Given the description of an element on the screen output the (x, y) to click on. 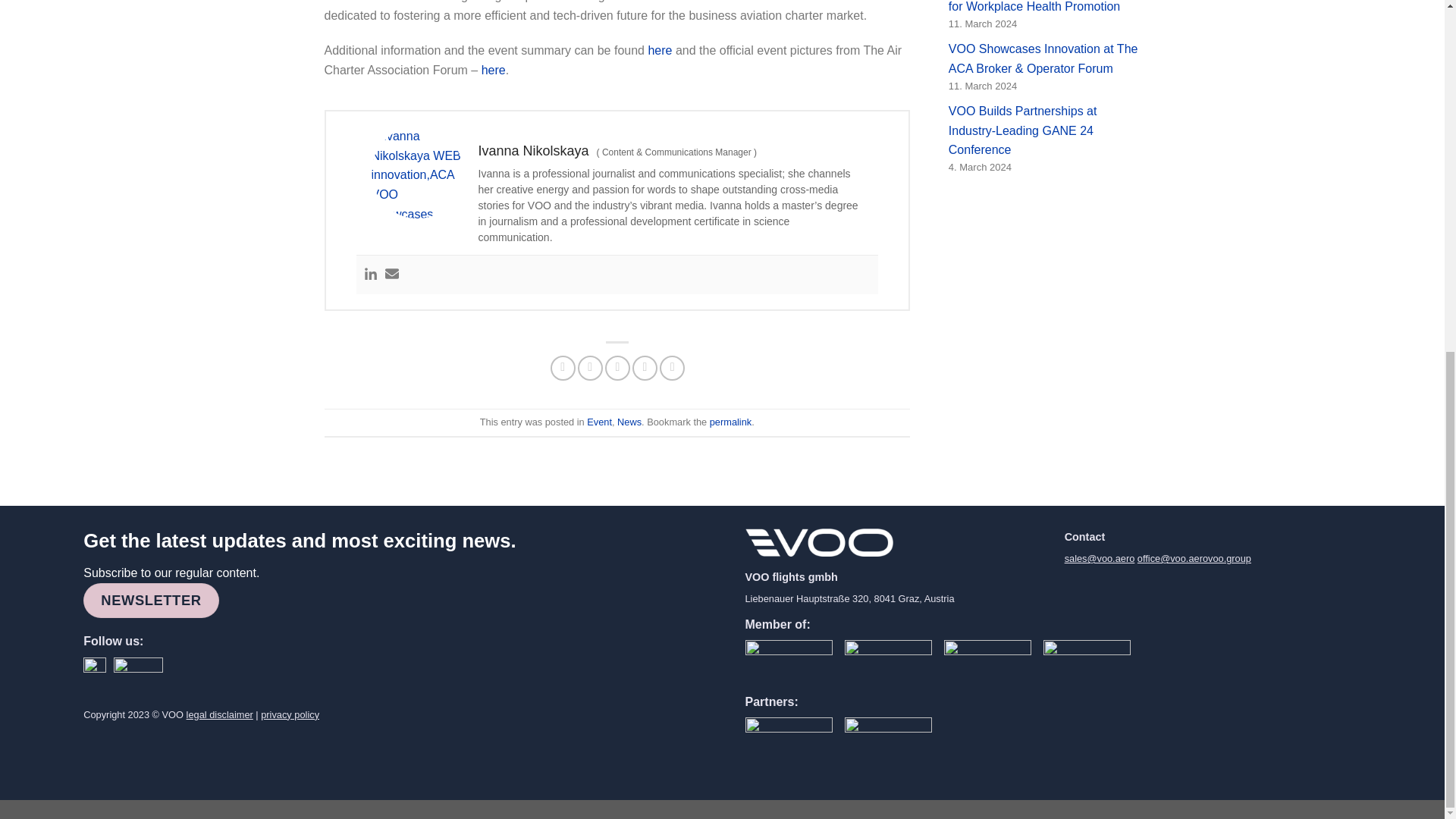
Share on LinkedIn (671, 367)
here (493, 69)
here (659, 50)
Share on Twitter (590, 367)
Share on Facebook (562, 367)
Pin on Pinterest (644, 367)
Email to a Friend (617, 367)
